Given the description of an element on the screen output the (x, y) to click on. 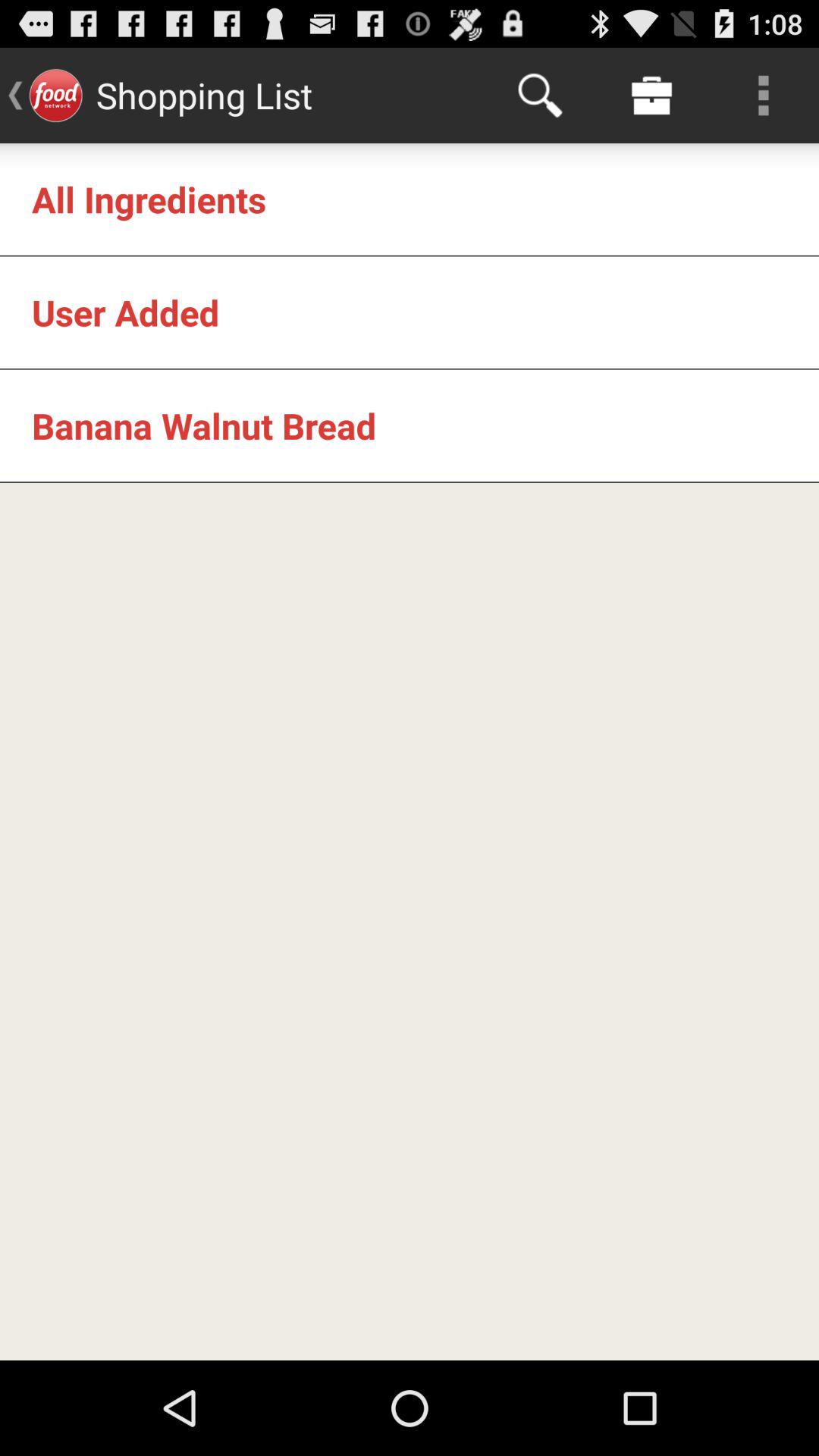
launch user added app (125, 312)
